Given the description of an element on the screen output the (x, y) to click on. 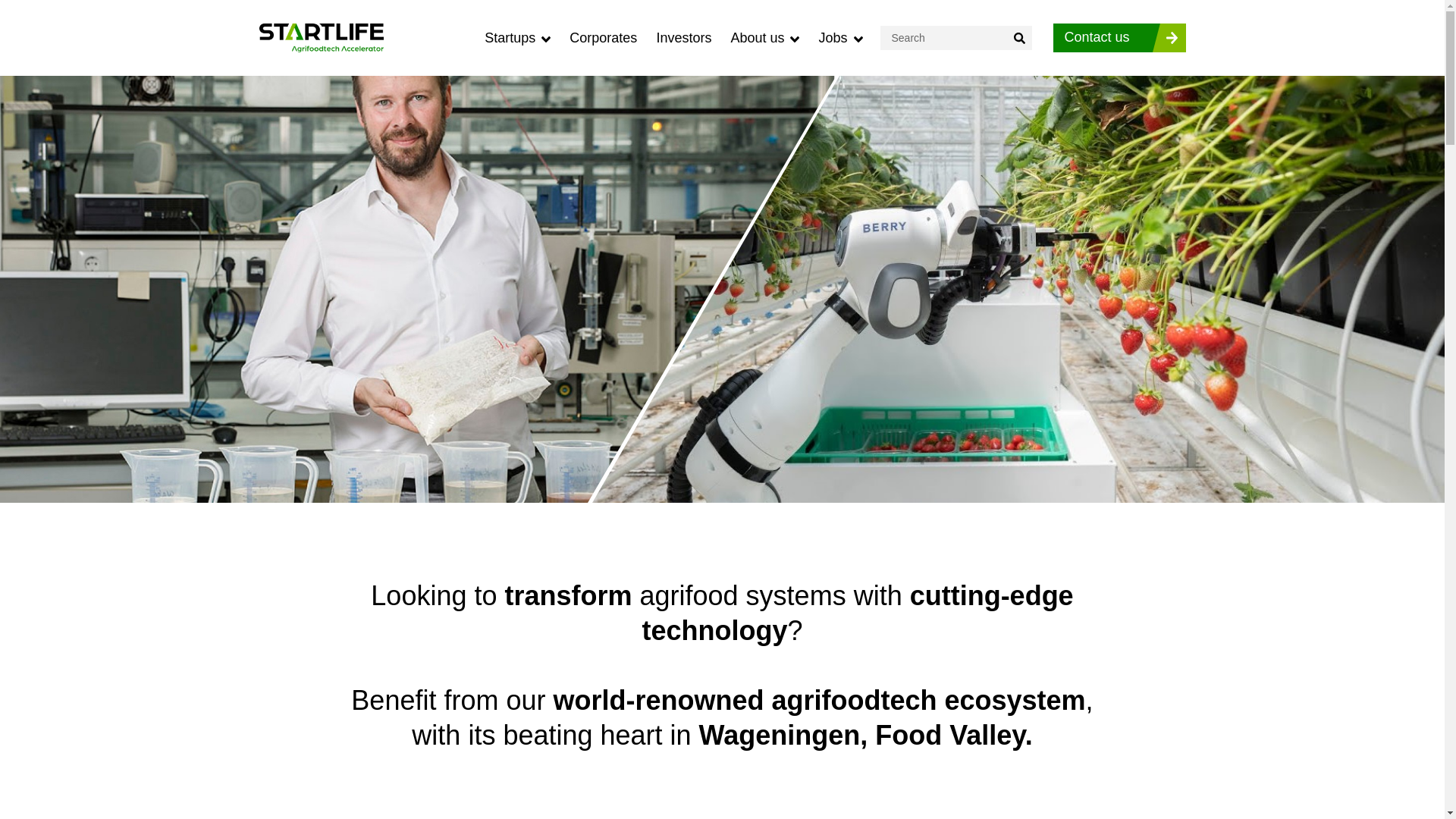
Jobs (839, 37)
Corporates (603, 37)
Investors (683, 37)
Startups (517, 37)
Contact us (1118, 37)
StartLife (321, 37)
About us (764, 37)
